Given the description of an element on the screen output the (x, y) to click on. 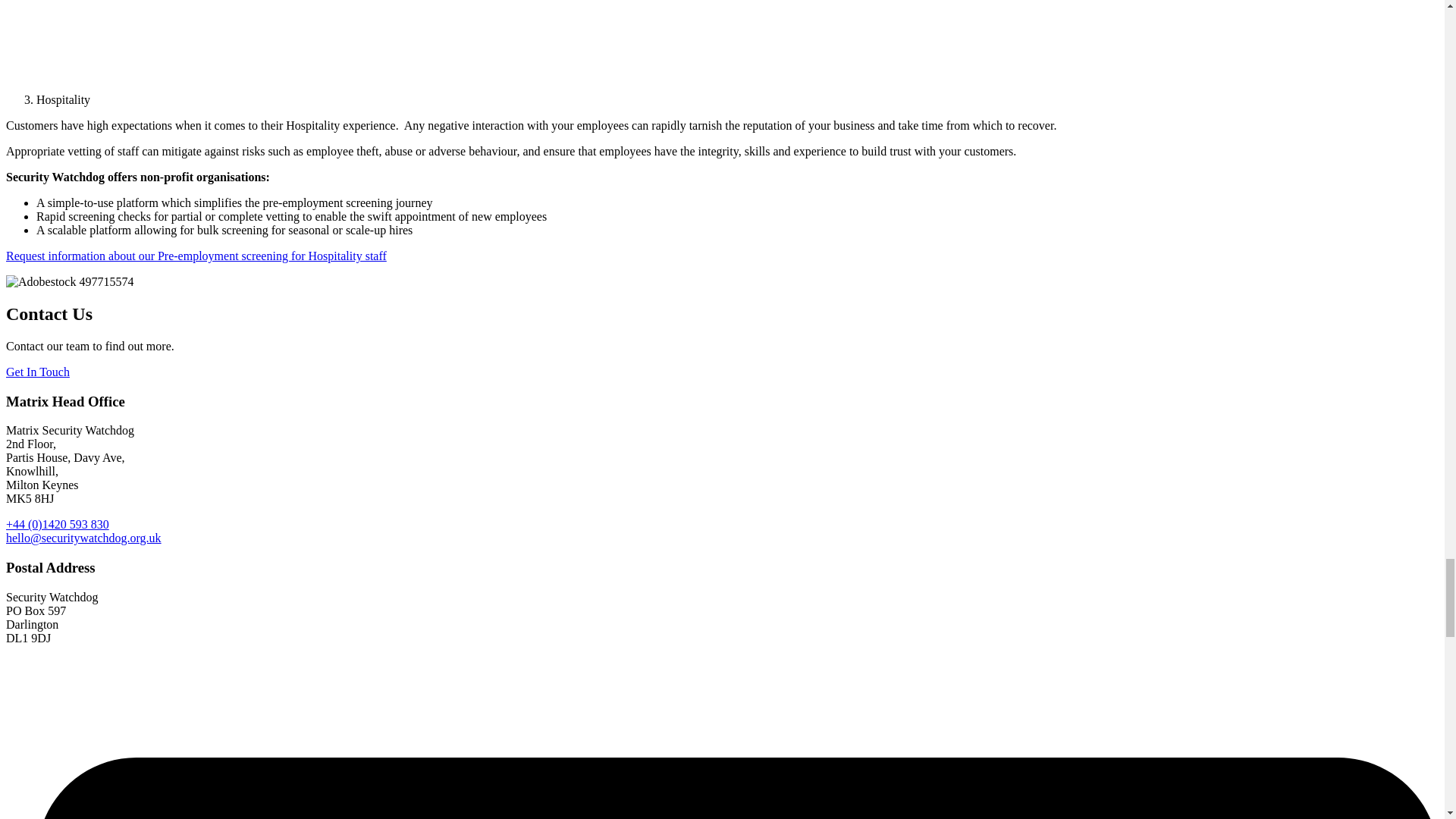
Get In Touch (37, 371)
Contact (196, 255)
